Given the description of an element on the screen output the (x, y) to click on. 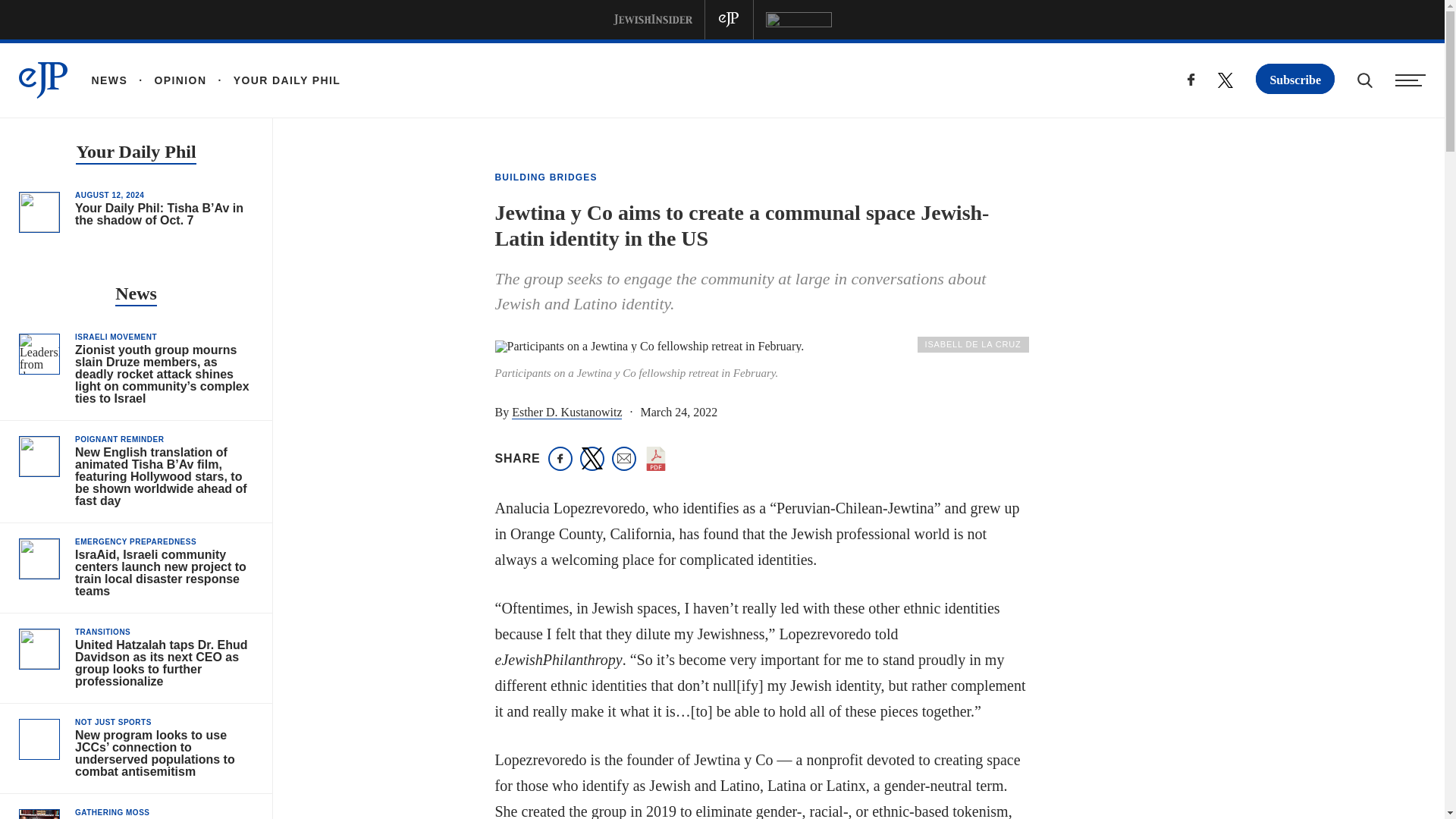
Your Daily Phil (135, 153)
Esther D. Kustanowitz (566, 412)
YOUR DAILY PHIL (273, 80)
NEWS (109, 80)
Subscribe (1295, 78)
OPINION (167, 80)
News (136, 295)
